Given the description of an element on the screen output the (x, y) to click on. 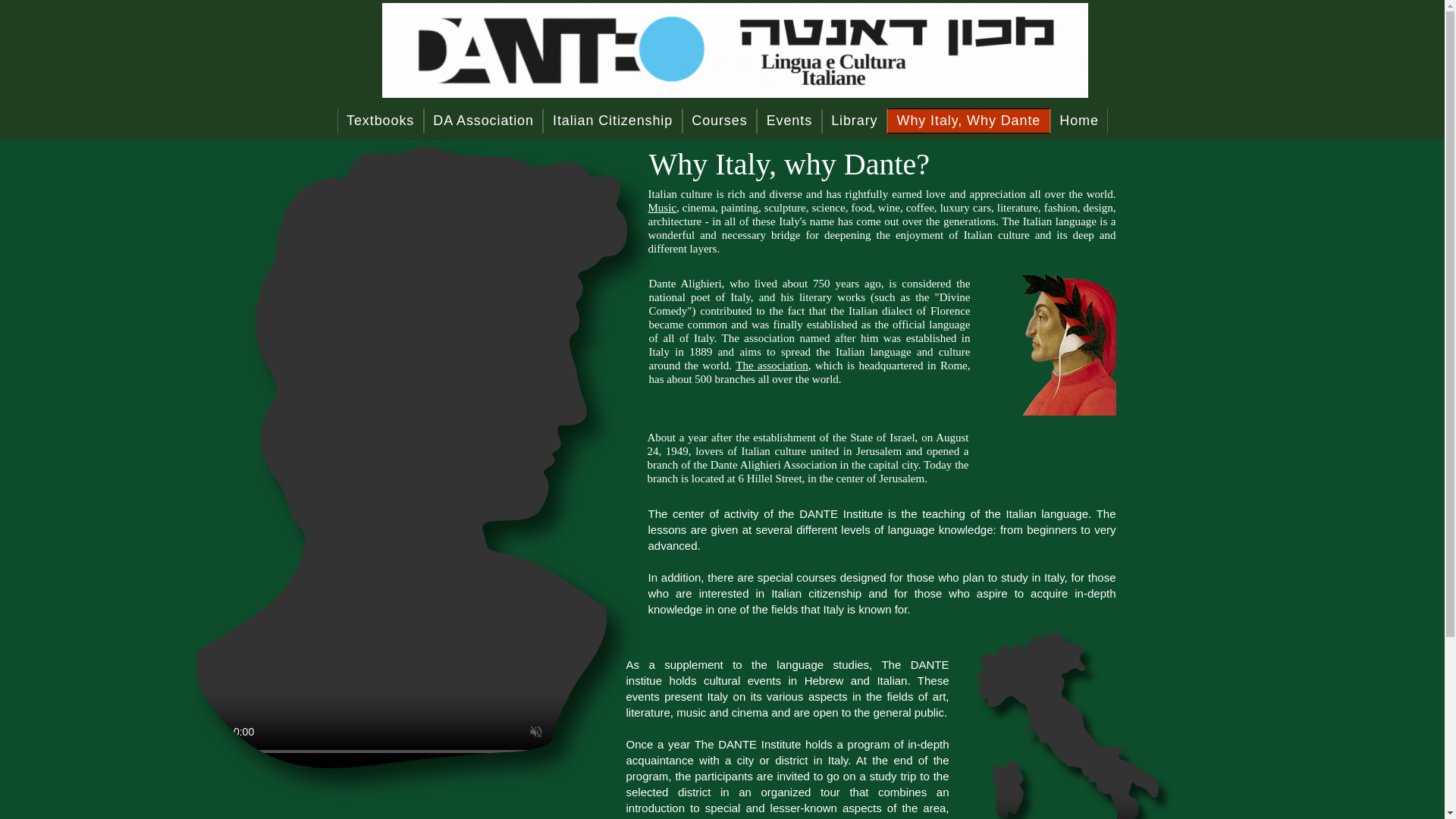
Why Italy, Why Dante (967, 120)
DA Association (483, 120)
The association (771, 365)
Library (854, 120)
Home (1078, 120)
Events (789, 120)
Music (662, 207)
Italian Citizenship (612, 120)
Courses (719, 120)
Textbooks (379, 120)
